Given the description of an element on the screen output the (x, y) to click on. 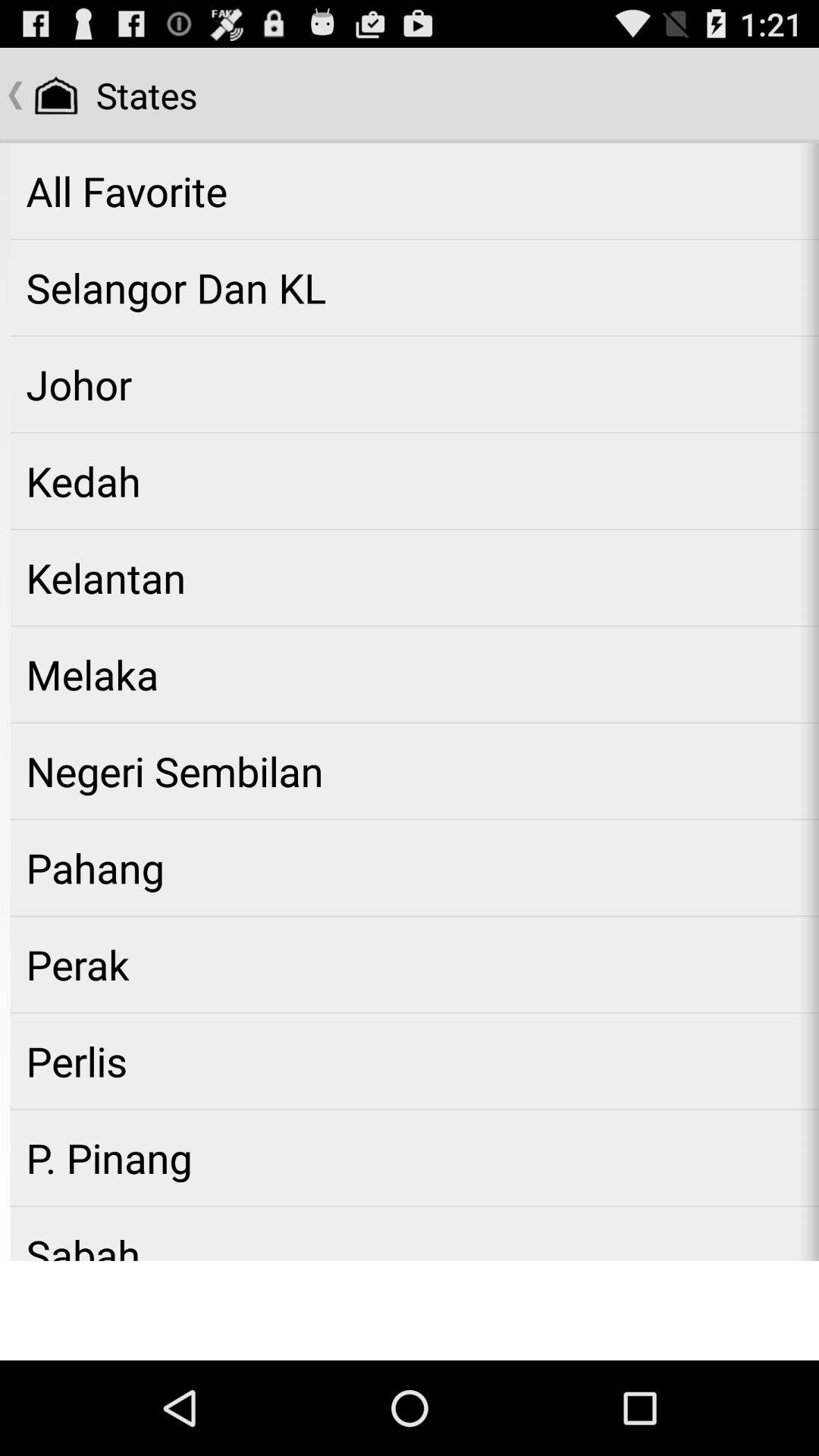
turn on the app above perak (414, 867)
